Given the description of an element on the screen output the (x, y) to click on. 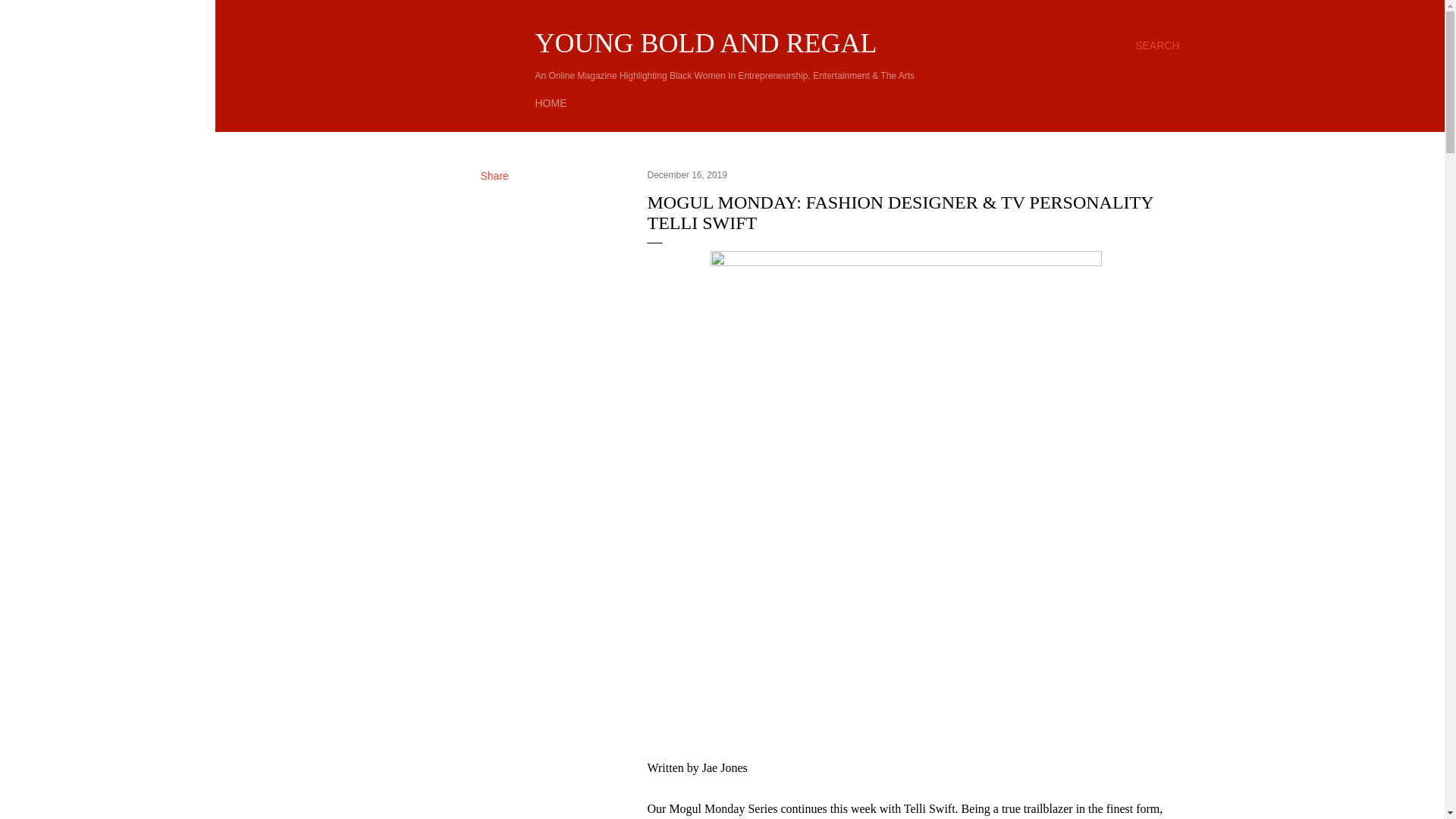
HOME (551, 102)
permanent link (686, 174)
Share (494, 175)
December 16, 2019 (686, 174)
SEARCH (1157, 45)
YOUNG BOLD AND REGAL (706, 42)
